Given the description of an element on the screen output the (x, y) to click on. 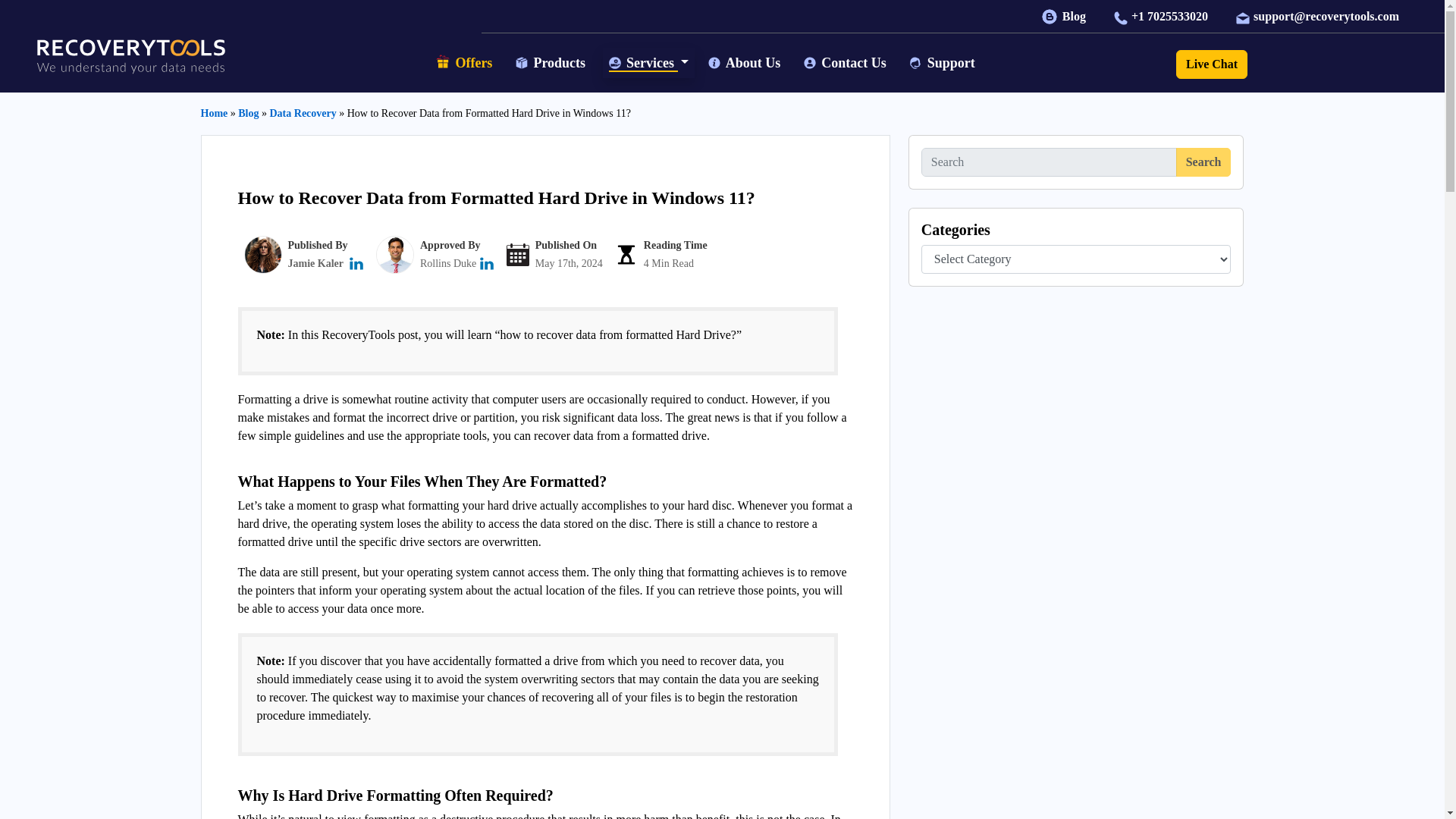
Contact Us  (846, 62)
Support  (943, 62)
About Us  (745, 62)
Products  (552, 62)
Home (213, 112)
Blog (248, 112)
Offers  (465, 63)
Blog (1065, 15)
Jamie Kaler (315, 263)
Live Chat (1211, 63)
Search (1203, 162)
Data Recovery (302, 112)
Services  (648, 62)
